Given the description of an element on the screen output the (x, y) to click on. 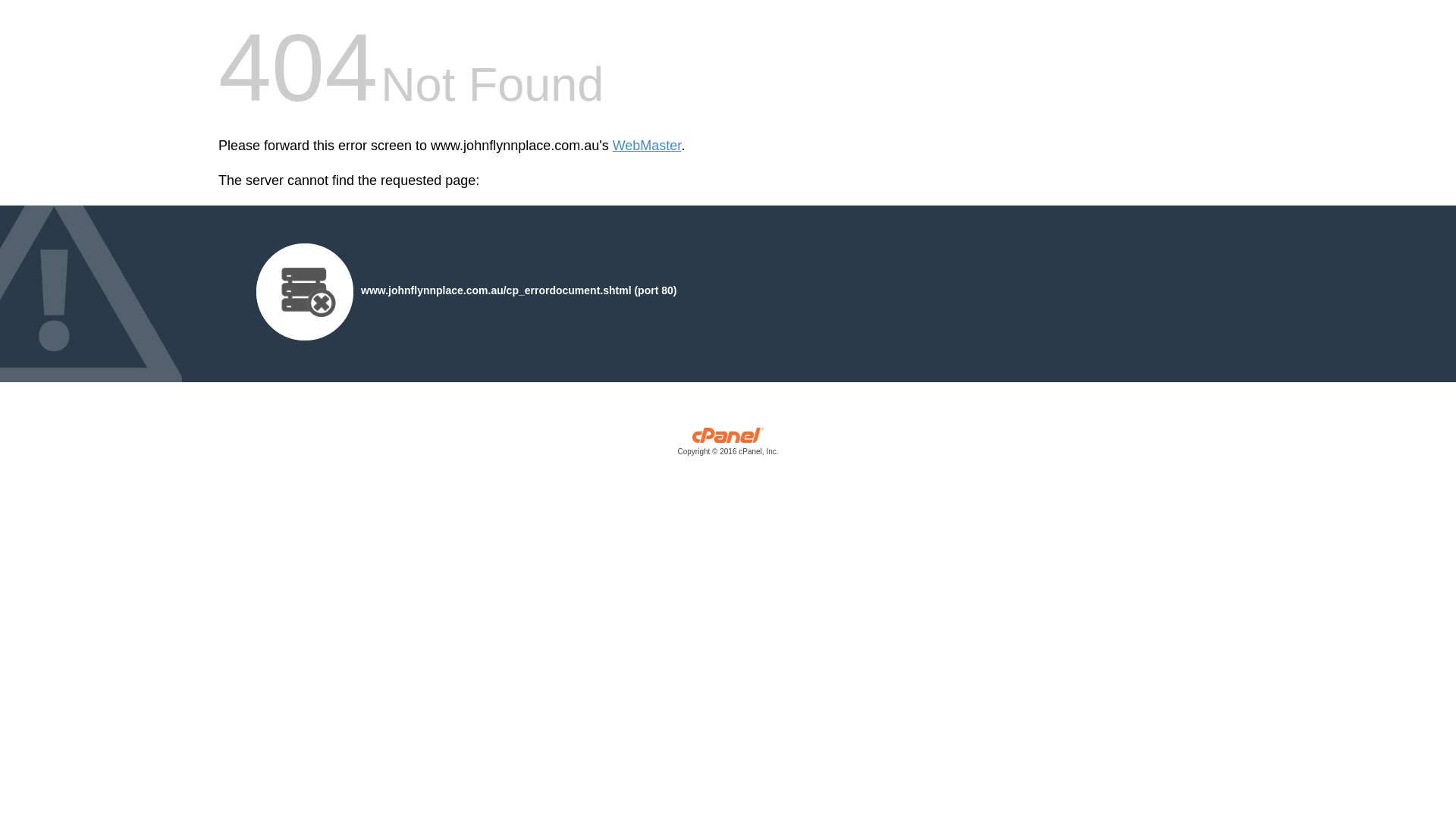
WebMaster Element type: text (646, 145)
